Given the description of an element on the screen output the (x, y) to click on. 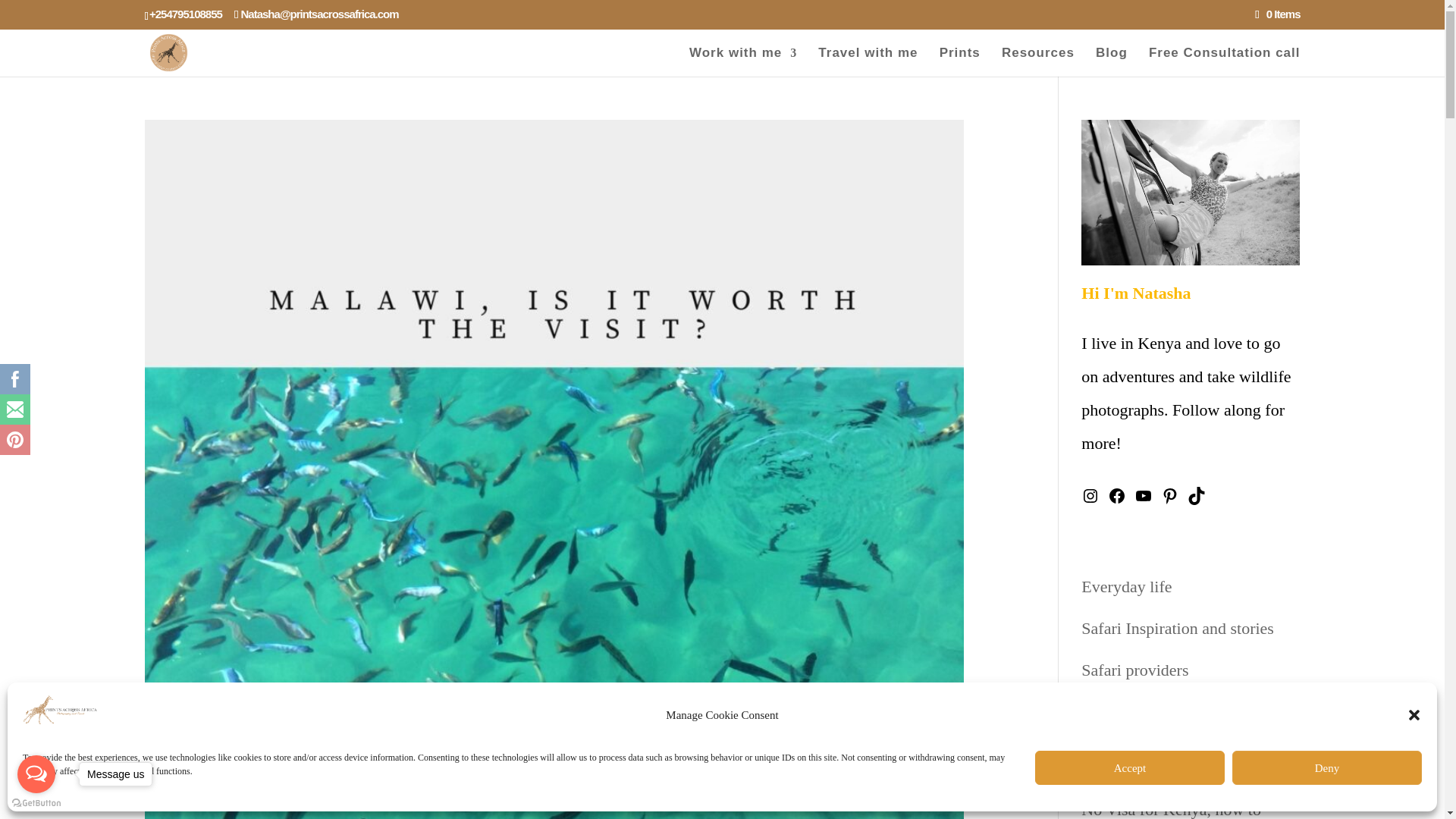
Travel with me (867, 61)
Free Consultation call (1224, 61)
Prints (959, 61)
Blog (1111, 61)
0 Items (1277, 13)
Work with me (742, 61)
Accept (1129, 767)
Resources (1037, 61)
Deny (1326, 767)
